Given the description of an element on the screen output the (x, y) to click on. 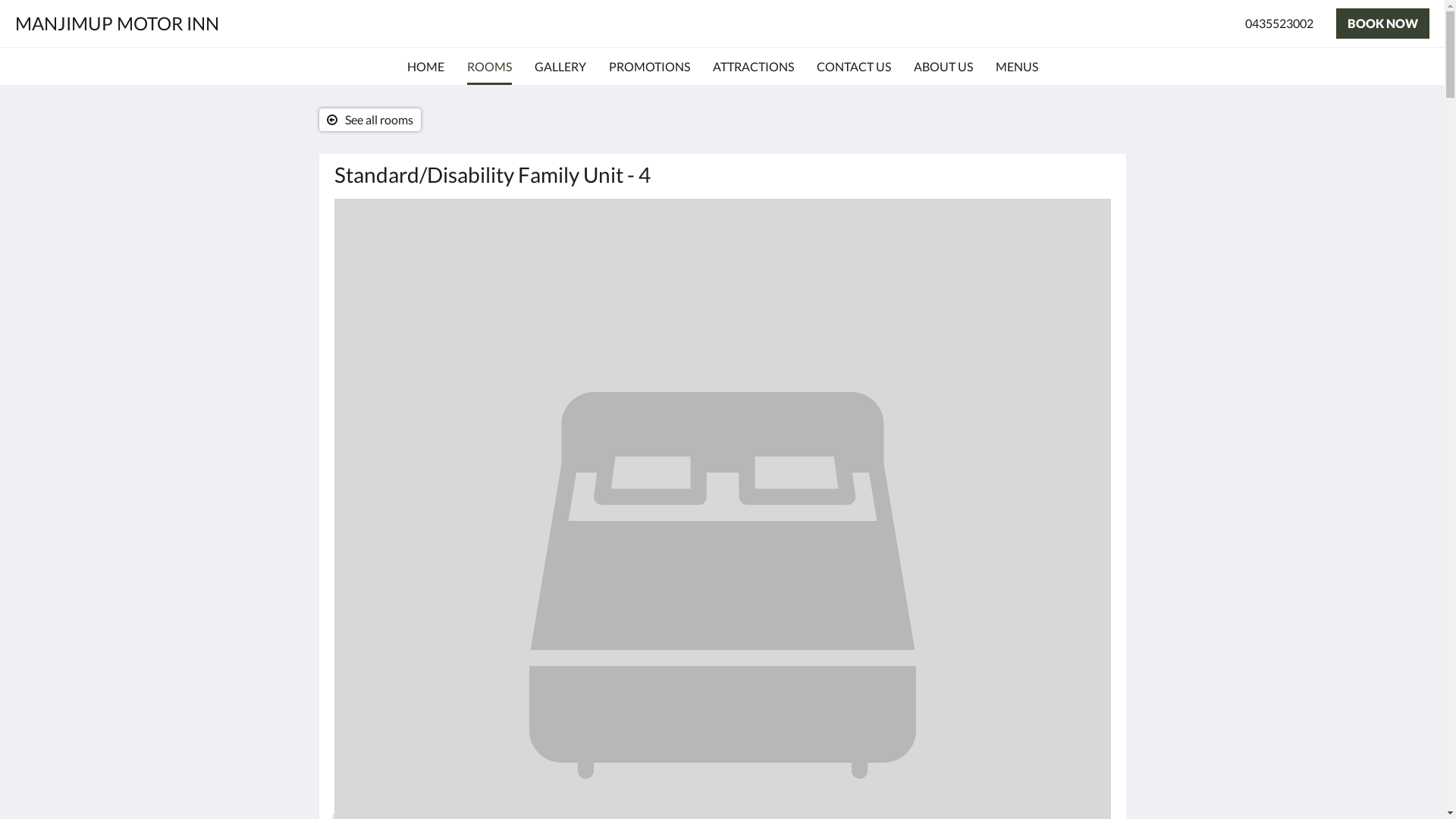
click to zoom-in Element type: hover (721, 653)
MENUS Element type: text (1015, 66)
ABOUT US Element type: text (942, 66)
ROOMS Element type: text (489, 66)
ATTRACTIONS Element type: text (752, 66)
See all rooms Element type: text (369, 119)
PROMOTIONS Element type: text (648, 66)
GALLERY Element type: text (559, 66)
MANJIMUP MOTOR INN Element type: text (117, 22)
HOME Element type: text (424, 66)
BOOK NOW Element type: text (1382, 23)
CONTACT US Element type: text (852, 66)
0435523002 Element type: text (1278, 23)
click to zoom-in Element type: hover (721, 350)
